Given the description of an element on the screen output the (x, y) to click on. 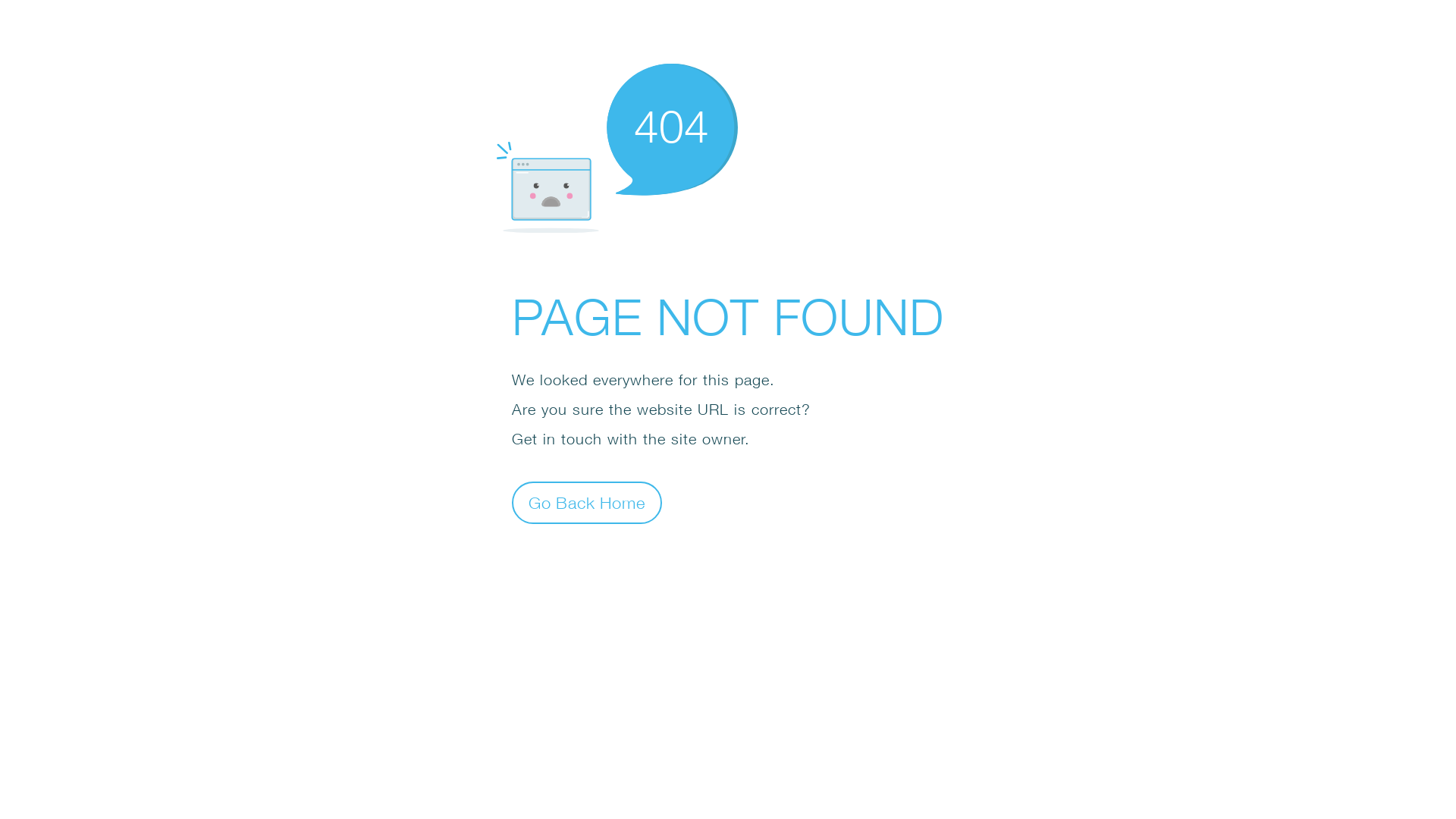
Go Back Home Element type: text (586, 502)
